Given the description of an element on the screen output the (x, y) to click on. 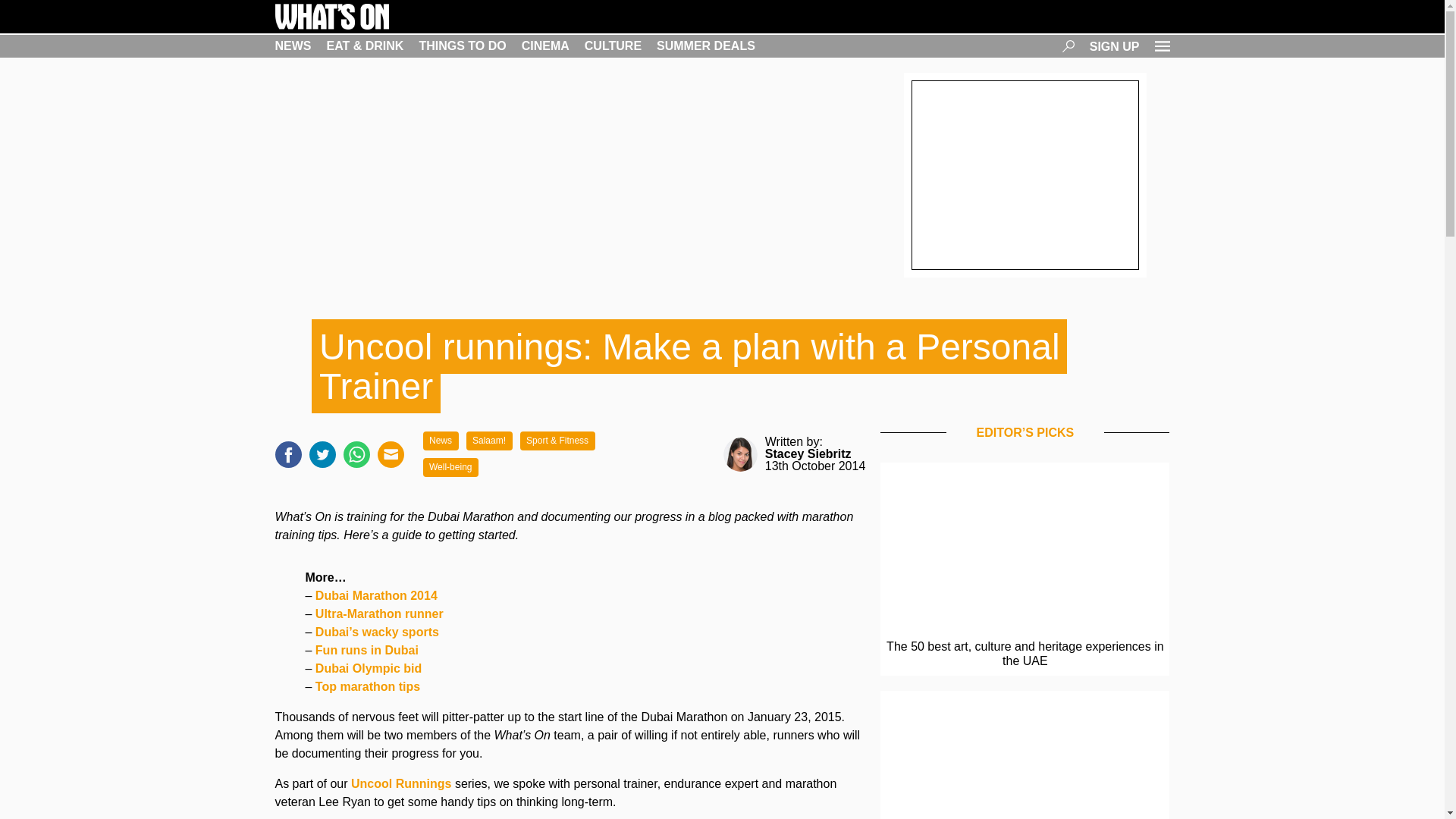
SUMMER DEALS (705, 45)
NEWS (293, 45)
CULTURE (613, 45)
CINEMA (545, 45)
SIGN UP (1114, 45)
THINGS TO DO (462, 45)
